Given the description of an element on the screen output the (x, y) to click on. 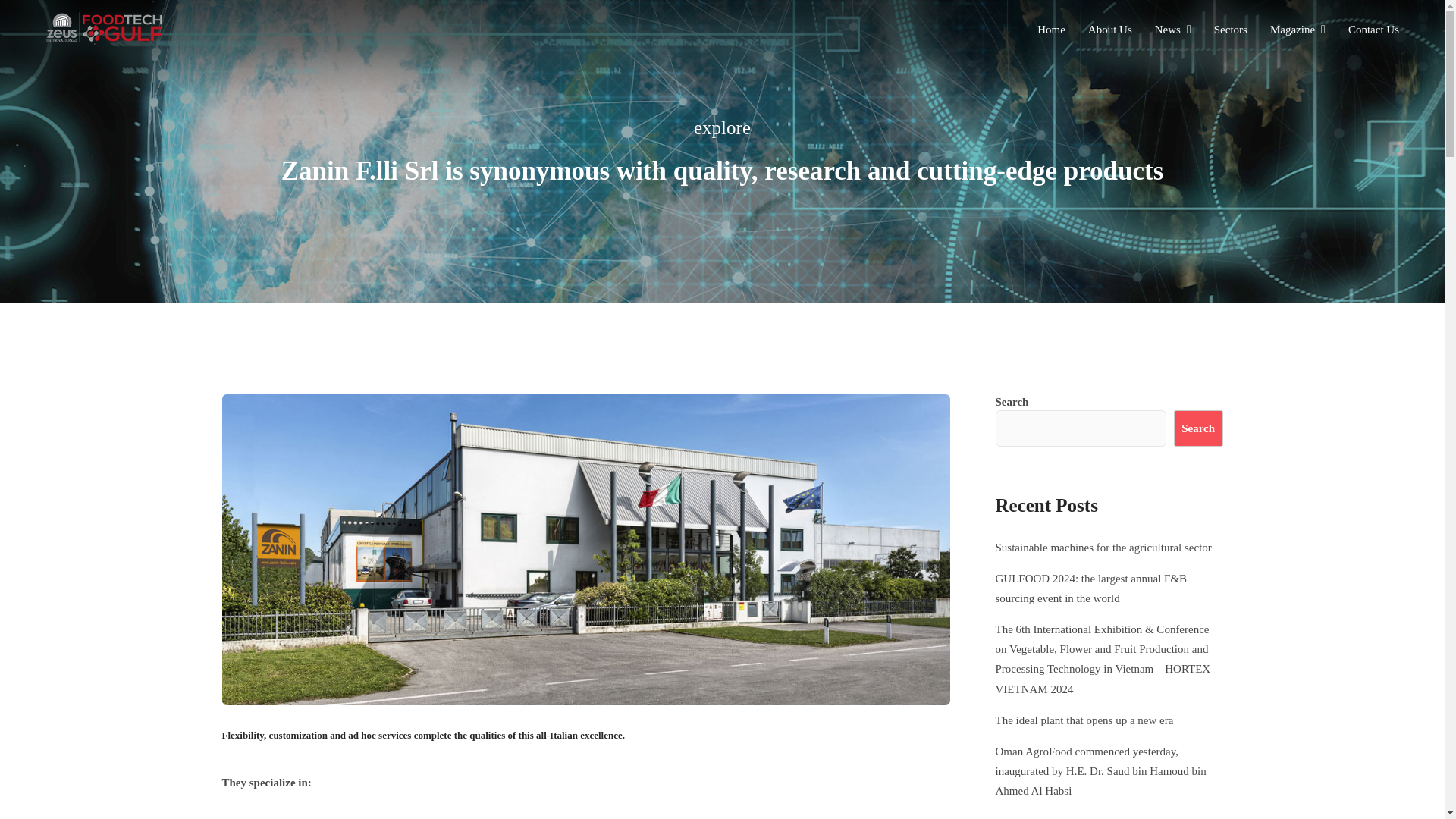
Home (1050, 30)
Sectors (1230, 30)
Magazine (1296, 30)
Sustainable machines for the agricultural sector (1102, 547)
News (1172, 30)
Contact Us (1373, 30)
About Us (1109, 30)
Search (1198, 428)
FoodTechGulf (119, 27)
